Given the description of an element on the screen output the (x, y) to click on. 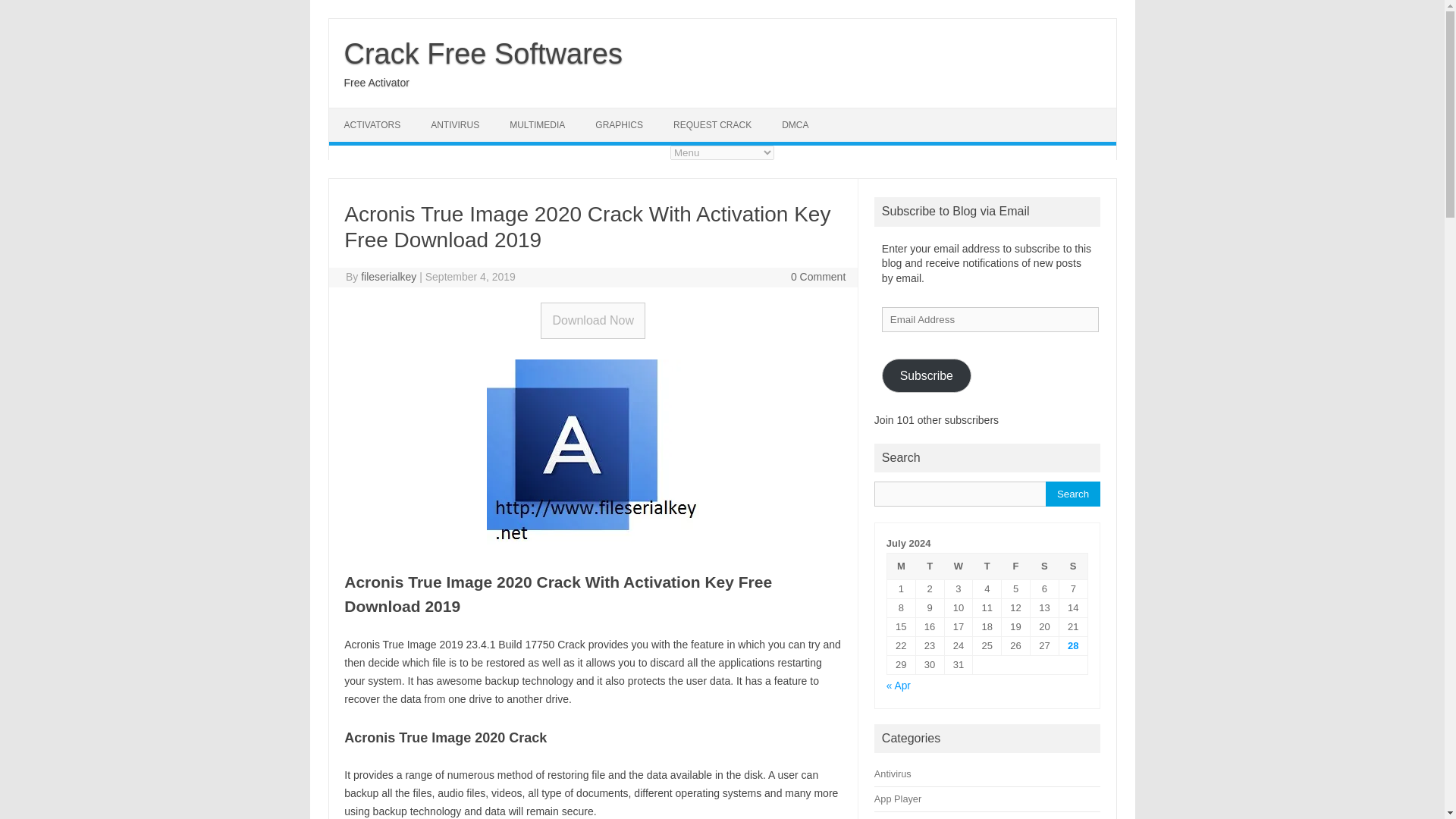
0 Comment (817, 276)
Friday (1015, 566)
Search (1072, 493)
fileserialkey (388, 276)
Posts by fileserialkey (388, 276)
ACTIVATORS (372, 124)
MULTIMEDIA (537, 124)
Monday (900, 566)
Download Now (592, 320)
DMCA (795, 124)
REQUEST CRACK (712, 124)
ANTIVIRUS (454, 124)
Crack Free Softwares (483, 53)
Tuesday (929, 566)
